Given the description of an element on the screen output the (x, y) to click on. 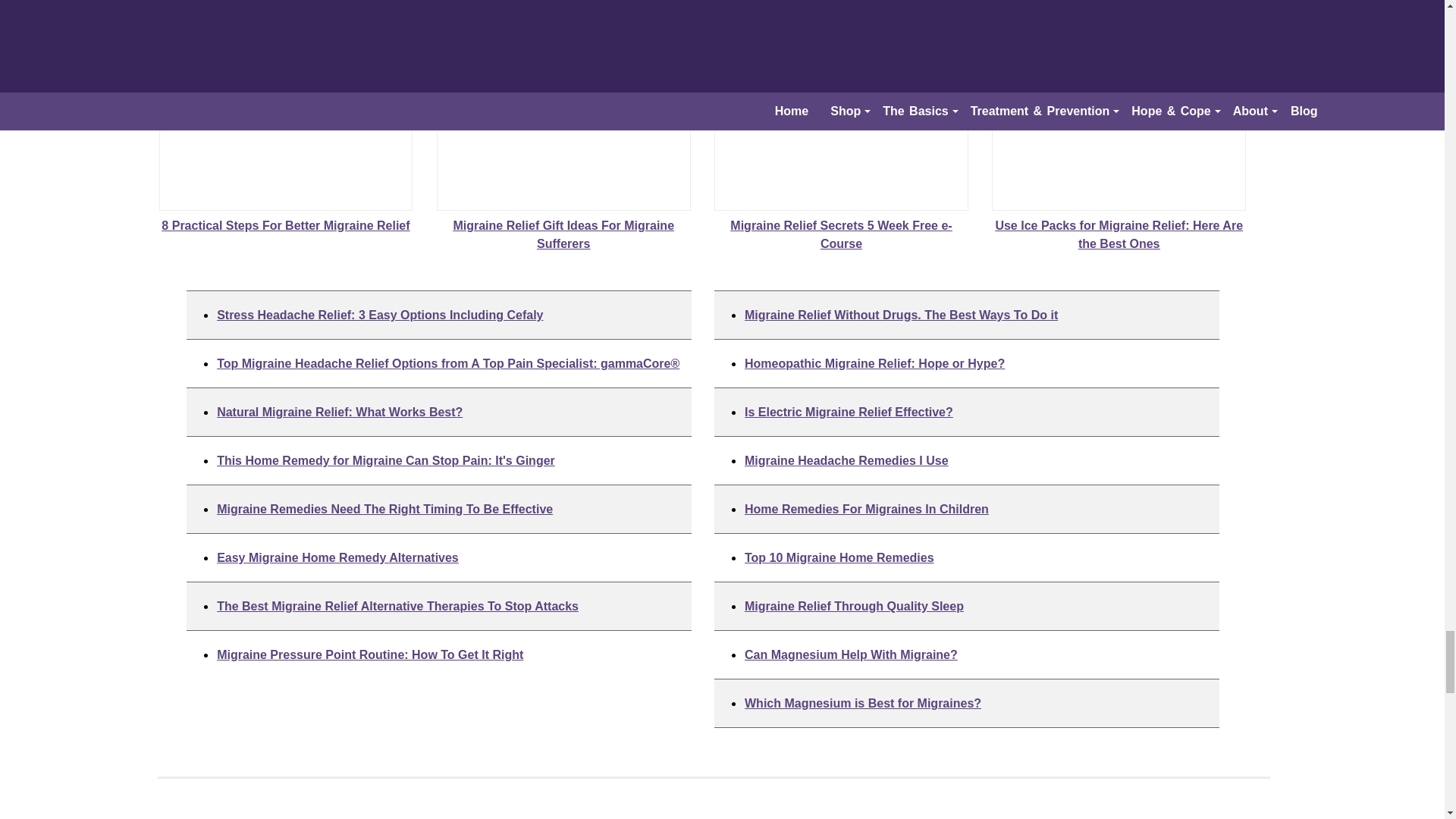
Go to Migraine Relief: 8 Practical Steps For Better Results (285, 217)
Use Ice Packs for Migraine Relief: Here Are the Best Ones (1118, 125)
Migraine Relief: 8 Practical Steps For Better Results (285, 125)
Migraine Relief Gift Ideas: Gifts For Migraine Sufferers (563, 125)
Migraine Relief Secrets 5 Week Free e-Course (841, 125)
Go to Ice Packs for Migraine Relief: Here Are The Best Ones (1118, 226)
